Given the description of an element on the screen output the (x, y) to click on. 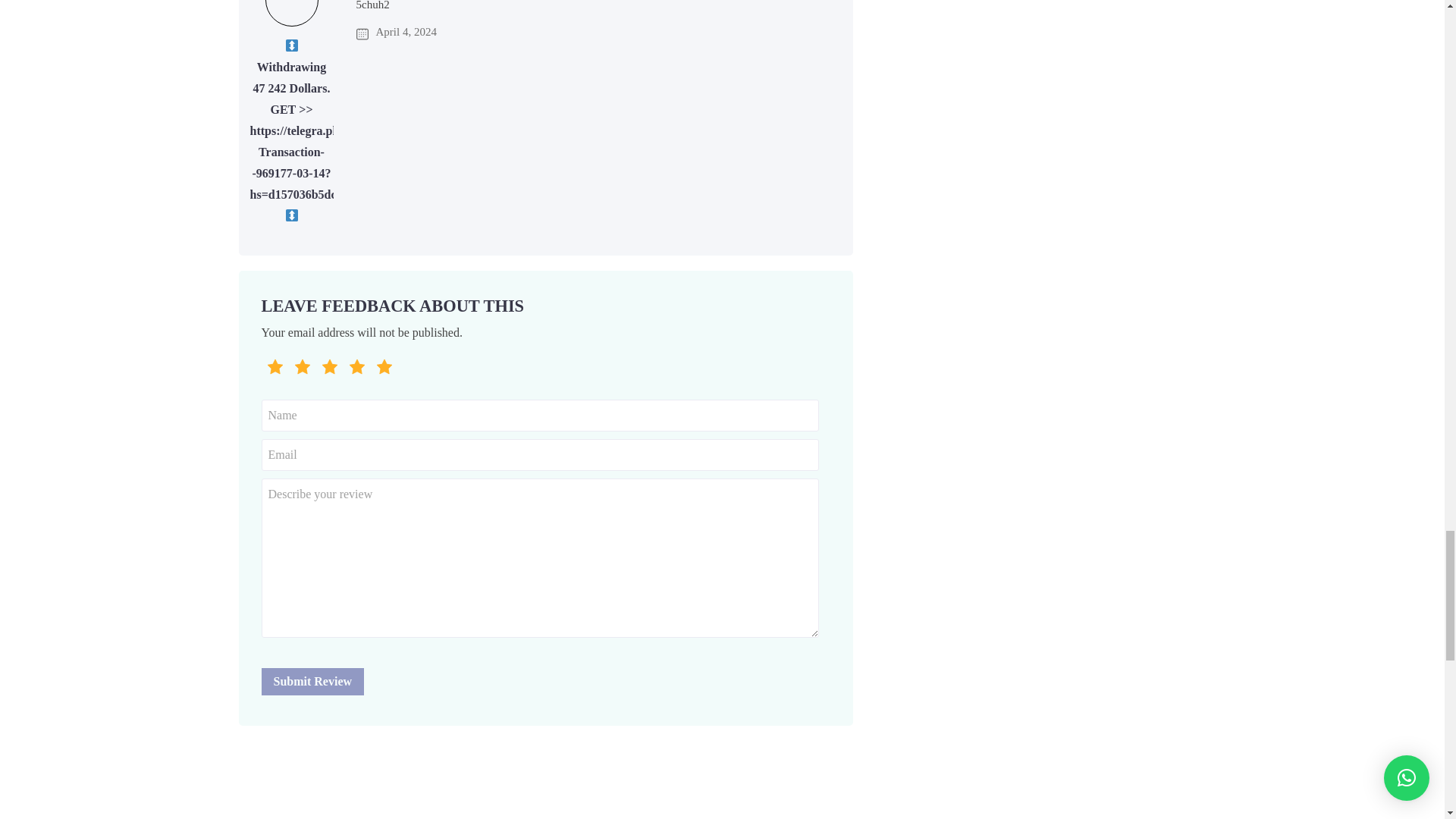
Poor (301, 369)
5 (265, 363)
1 (265, 363)
Outstanding (383, 369)
Good (328, 369)
Submit Review (312, 681)
Very Good (355, 369)
2 (265, 363)
Very Poor (274, 369)
3 (265, 363)
4 (265, 363)
